Given the description of an element on the screen output the (x, y) to click on. 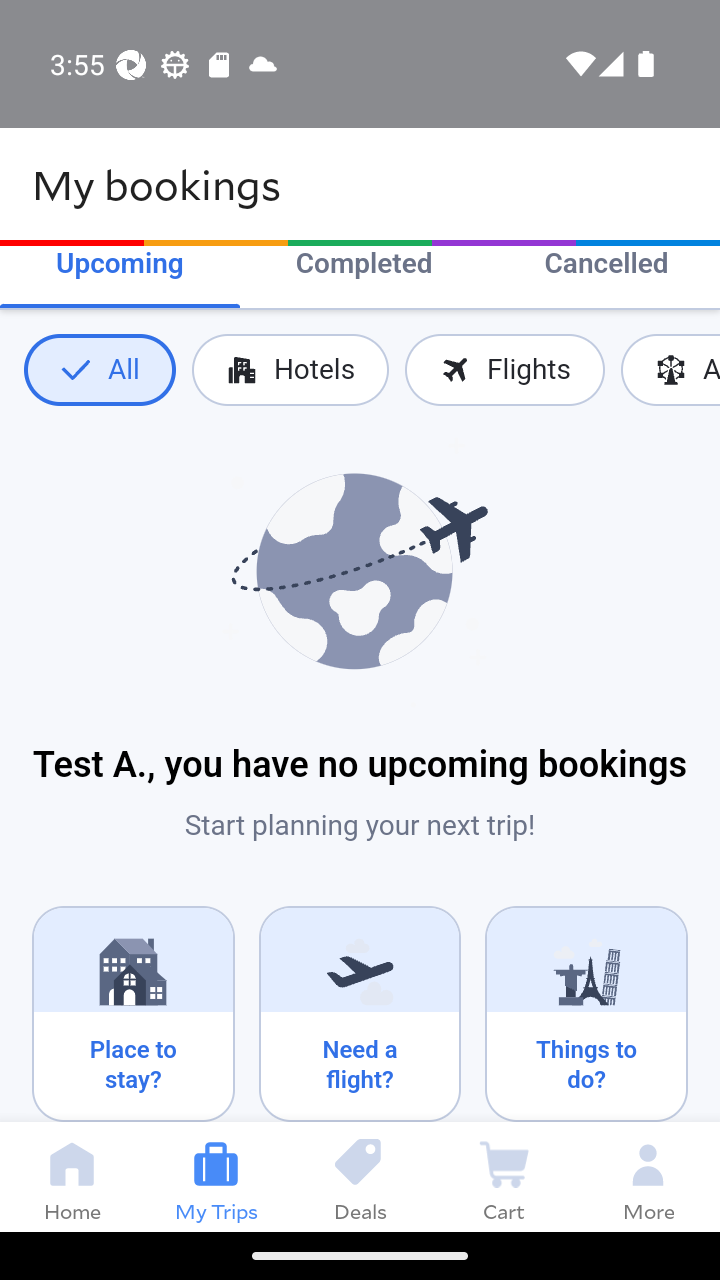
Upcoming (119, 266)
Completed (363, 266)
Cancelled (606, 266)
All (99, 369)
Hotels (290, 369)
Flights (504, 369)
Activities (669, 369)
Home (72, 1176)
My Trips (216, 1176)
Deals (360, 1176)
Cart (504, 1176)
More (648, 1176)
